Given the description of an element on the screen output the (x, y) to click on. 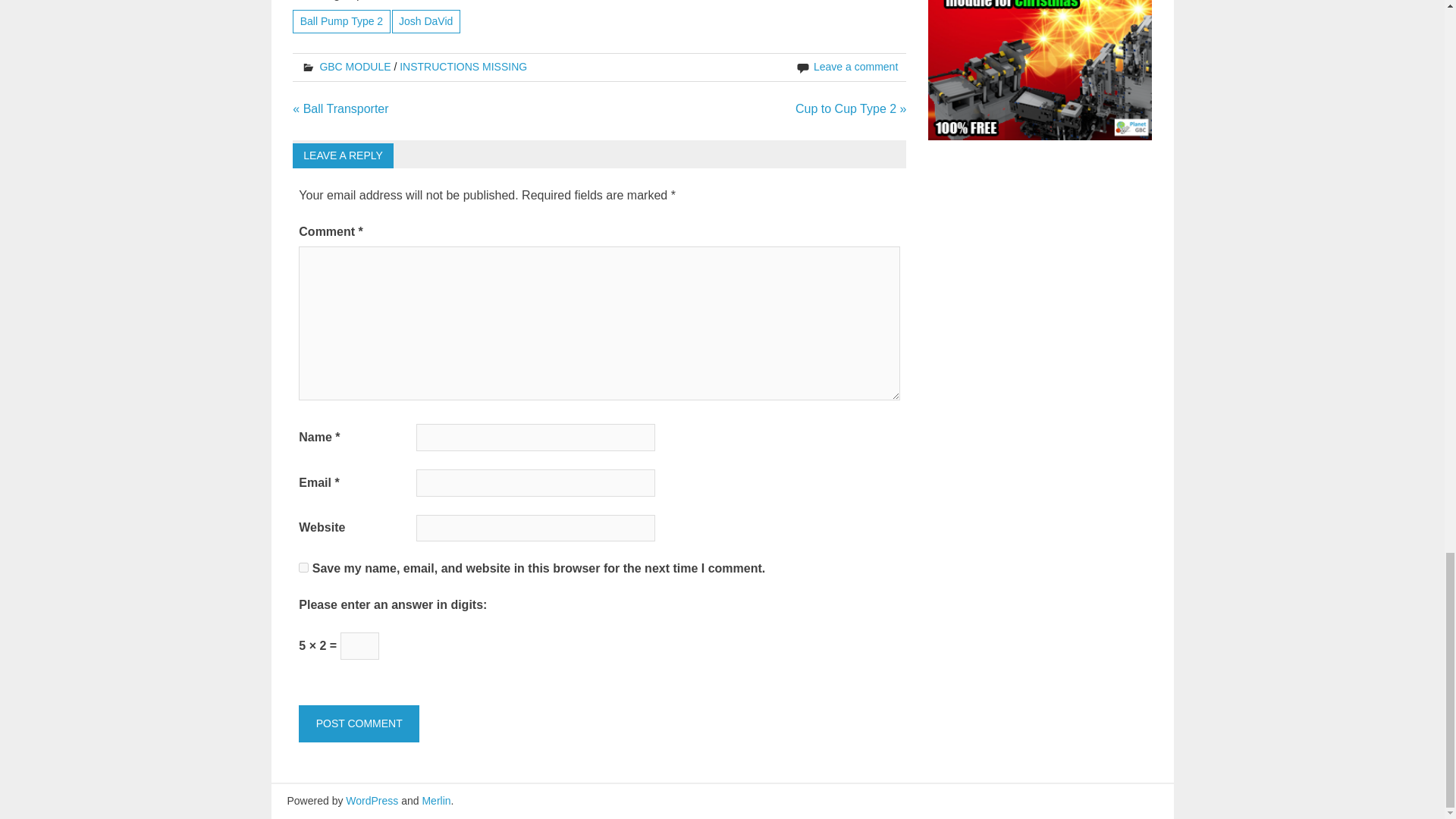
yes (303, 567)
Post Comment (358, 723)
WordPress (371, 800)
Merlin WordPress Theme (435, 800)
